Given the description of an element on the screen output the (x, y) to click on. 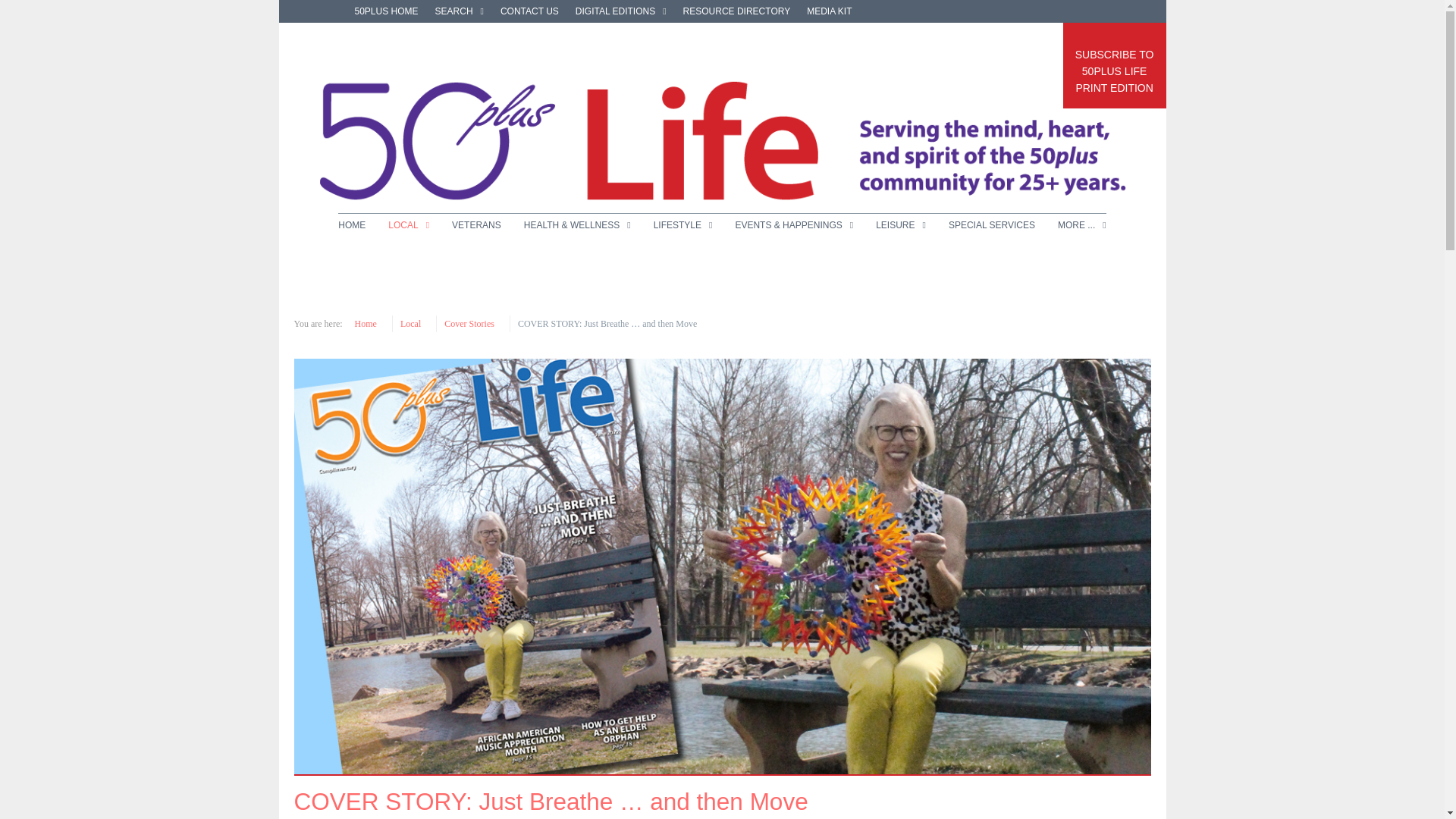
VETERANS (1114, 65)
LOCAL (476, 224)
DIGITAL EDITIONS (409, 224)
RESOURCE DIRECTORY (620, 11)
LEISURE (736, 11)
LIFESTYLE (900, 224)
CONTACT US (682, 224)
HOME (529, 11)
SEARCH (357, 224)
50PLUS HOME (459, 11)
MEDIA KIT (387, 11)
